Given the description of an element on the screen output the (x, y) to click on. 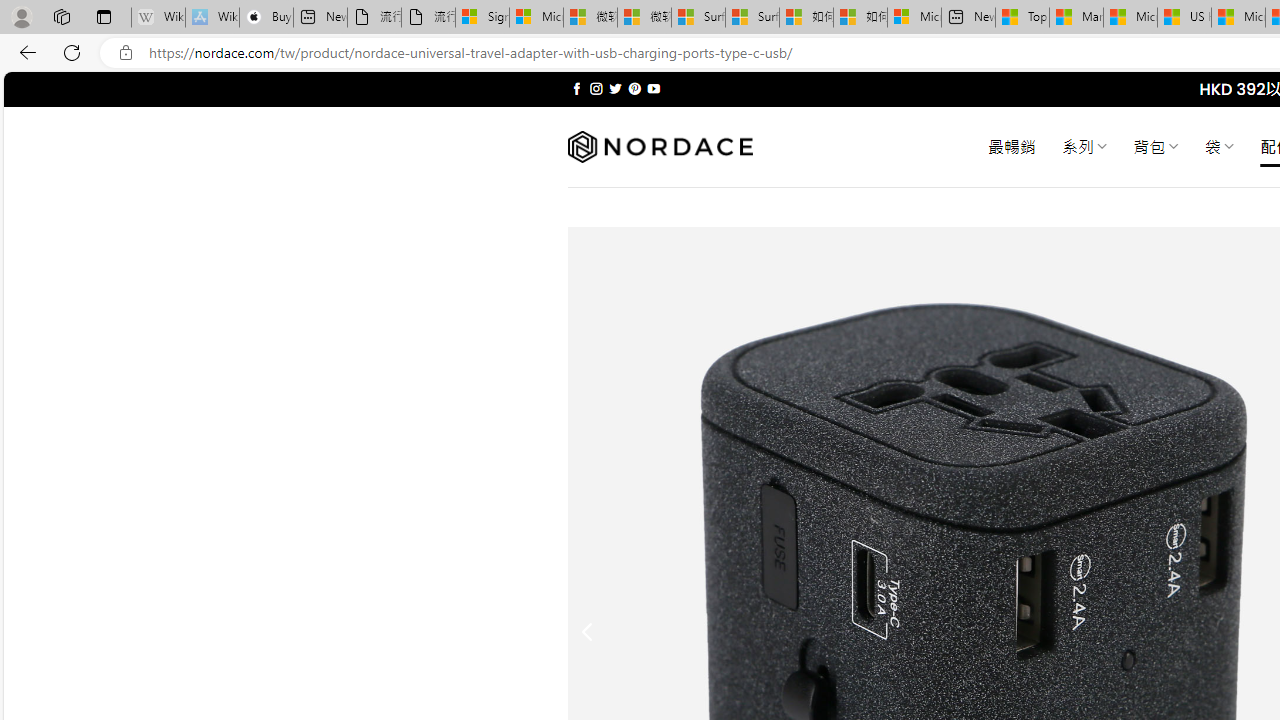
Follow on Instagram (596, 88)
Marine life - MSN (1076, 17)
Follow on Pinterest (634, 88)
Microsoft Services Agreement (536, 17)
